Given the description of an element on the screen output the (x, y) to click on. 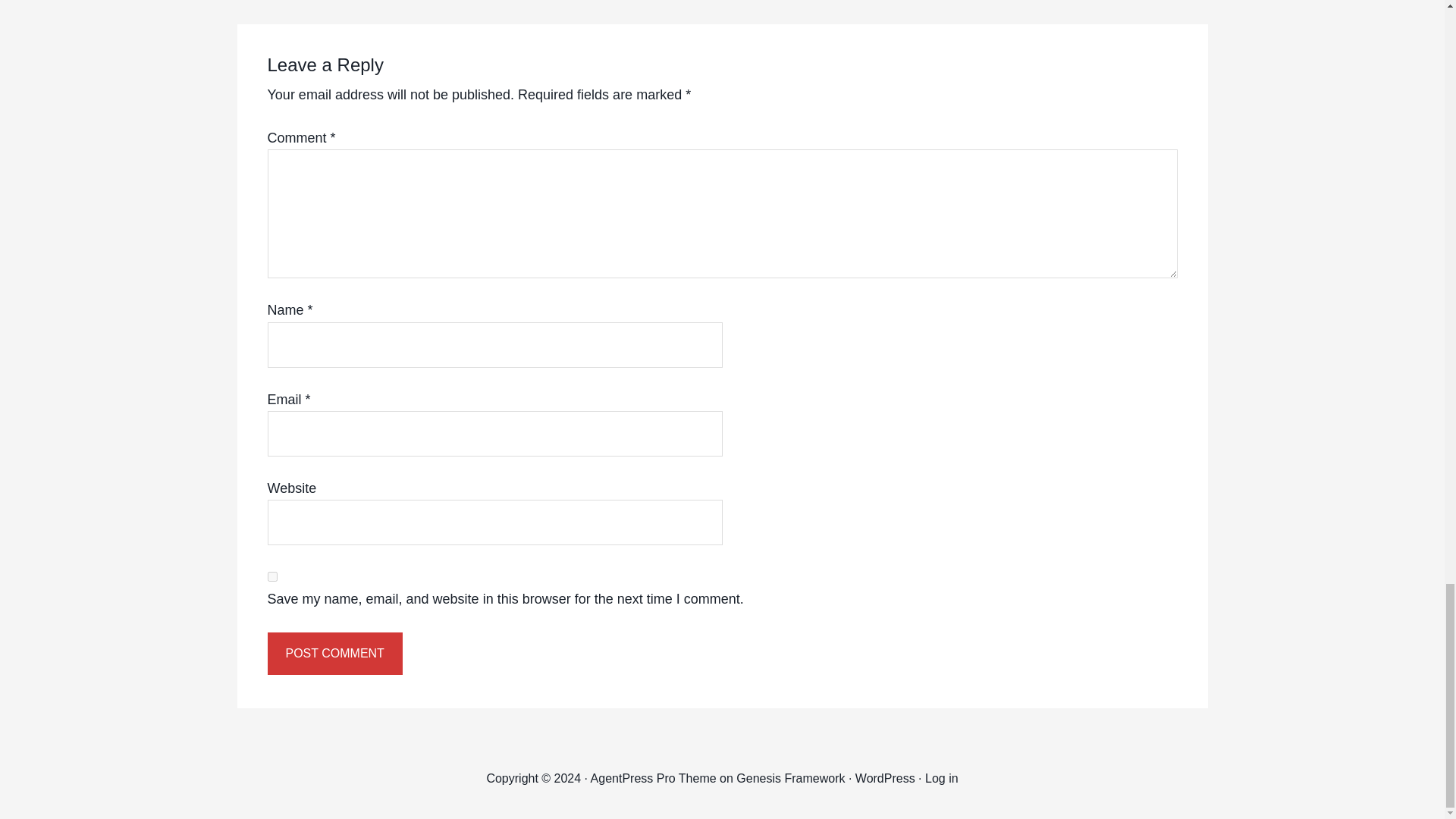
Post Comment (333, 653)
Post Comment (333, 653)
Genesis Framework (790, 778)
AgentPress Pro Theme (653, 778)
yes (271, 576)
WordPress (885, 778)
Log in (941, 778)
